Given the description of an element on the screen output the (x, y) to click on. 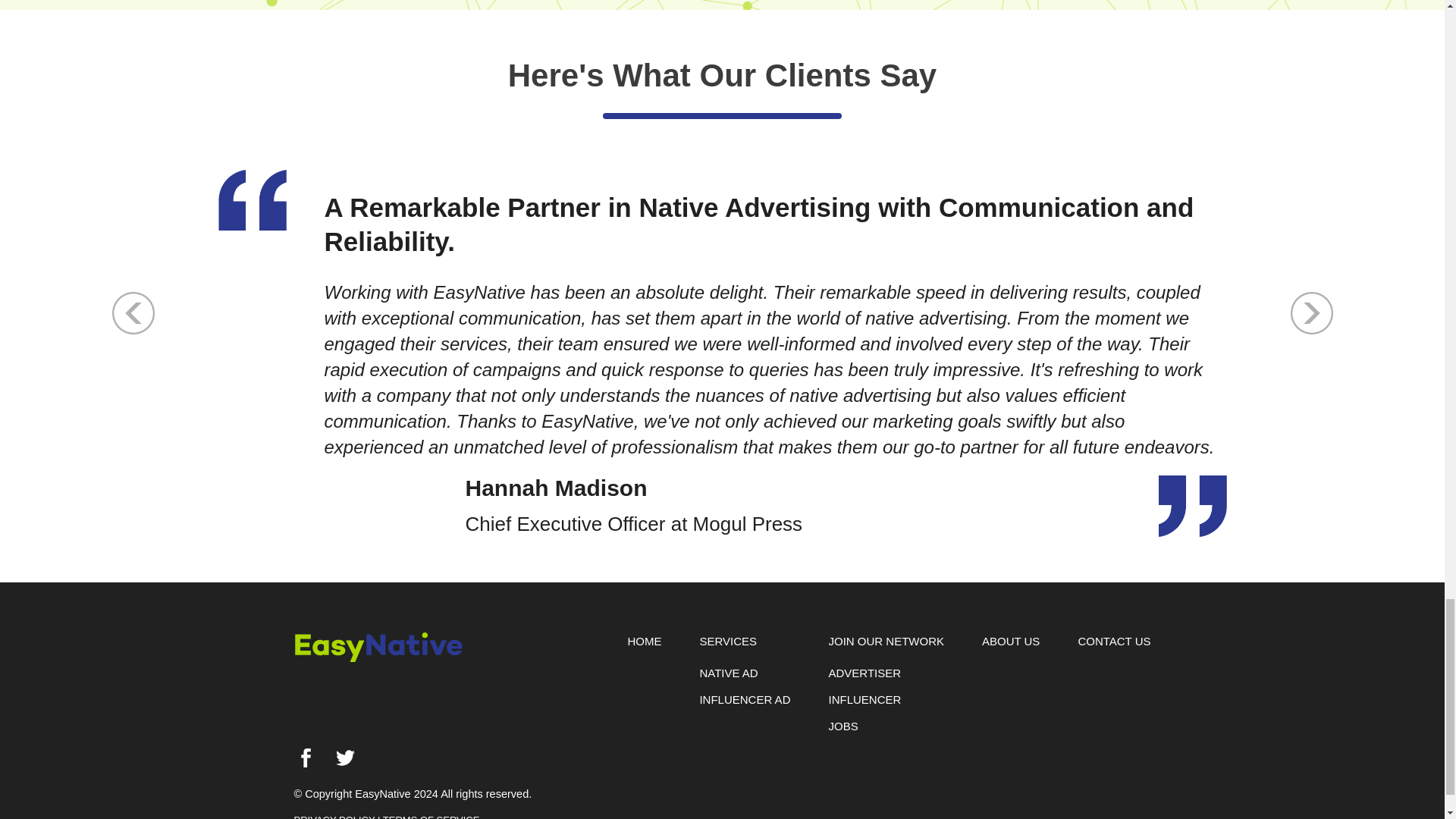
INFLUENCER AD (744, 699)
JOBS (842, 726)
Previous (133, 312)
TERMS OF SERVICE (431, 816)
INFLUENCER (864, 699)
NATIVE AD (727, 672)
ABOUT US (1010, 640)
HOME (644, 640)
JOIN OUR NETWORK (885, 640)
ADVERTISER (864, 672)
Next (1311, 312)
CONTACT US (1113, 640)
SERVICES (727, 640)
PRIVACY POLICY (334, 816)
